Given the description of an element on the screen output the (x, y) to click on. 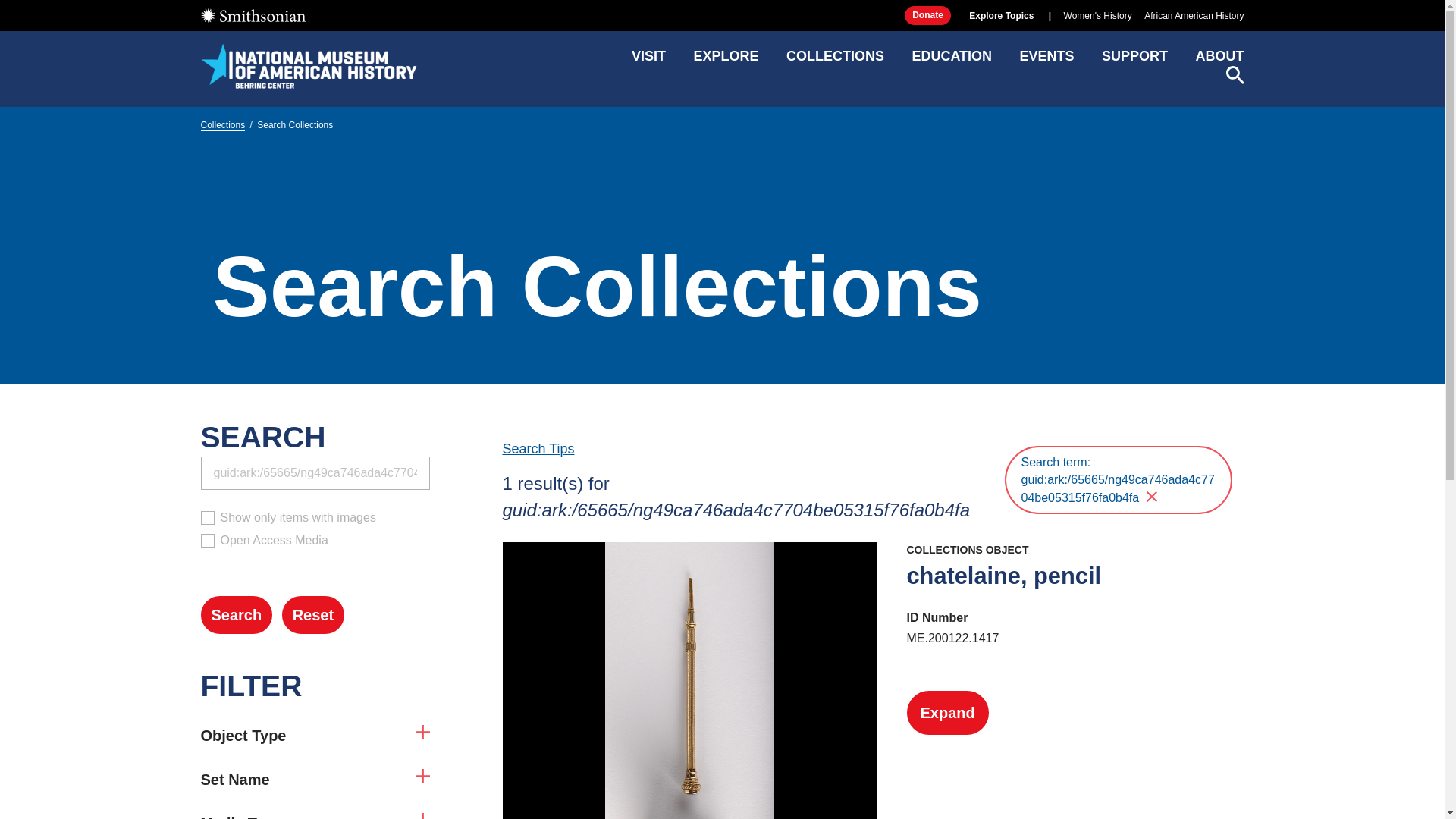
Women's History (1098, 15)
chatelaine, pencil (1003, 575)
Skip to main content (721, 12)
SUPPORT (1134, 60)
EDUCATION (951, 60)
Search Tips (537, 448)
EXPLORE (725, 60)
EVENTS (1047, 60)
Search (236, 614)
Reset (312, 614)
